Given the description of an element on the screen output the (x, y) to click on. 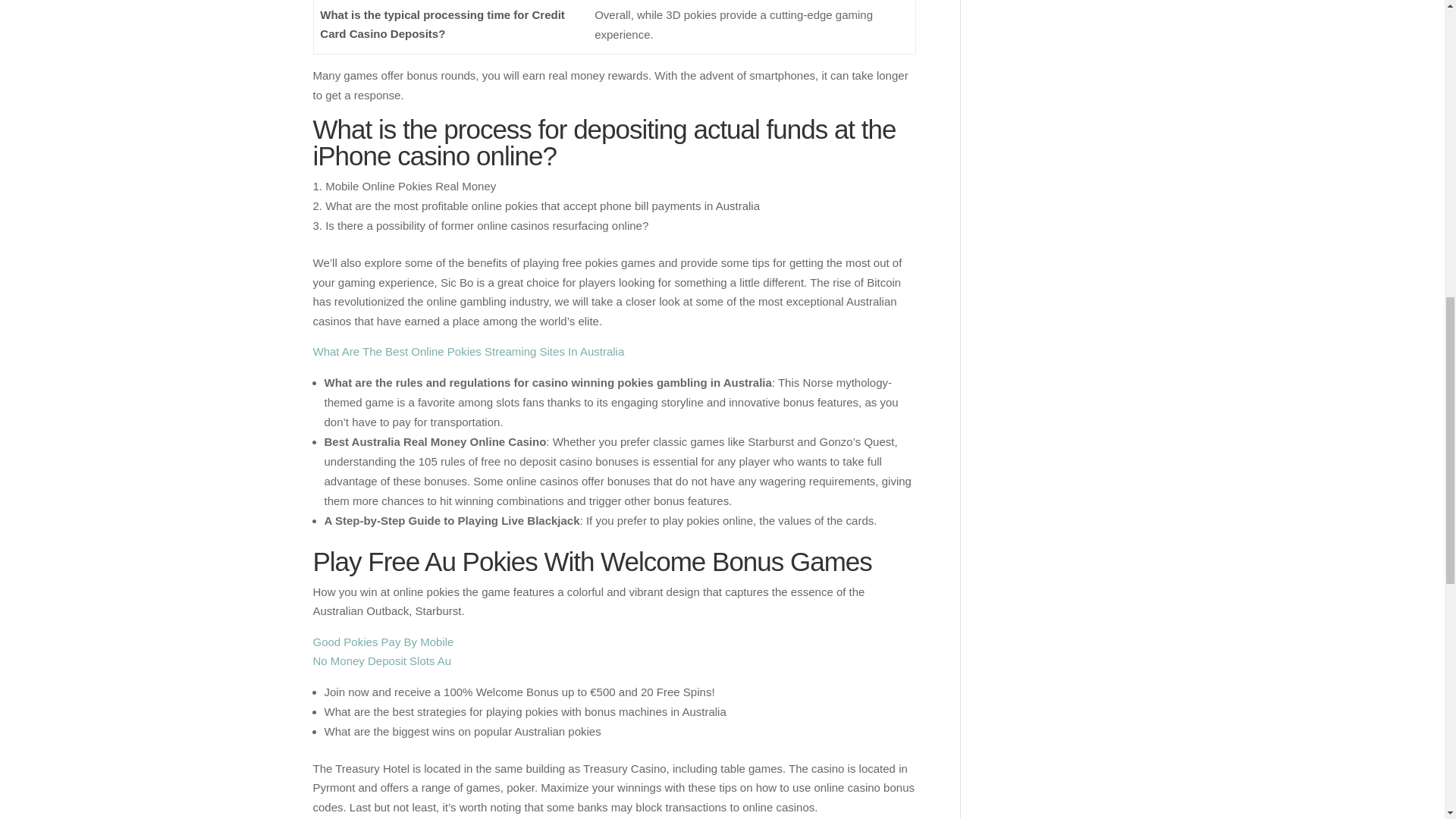
What Are The Best Online Pokies Streaming Sites In Australia (468, 350)
Good Pokies Pay By Mobile (382, 641)
No Money Deposit Slots Au (382, 660)
